Given the description of an element on the screen output the (x, y) to click on. 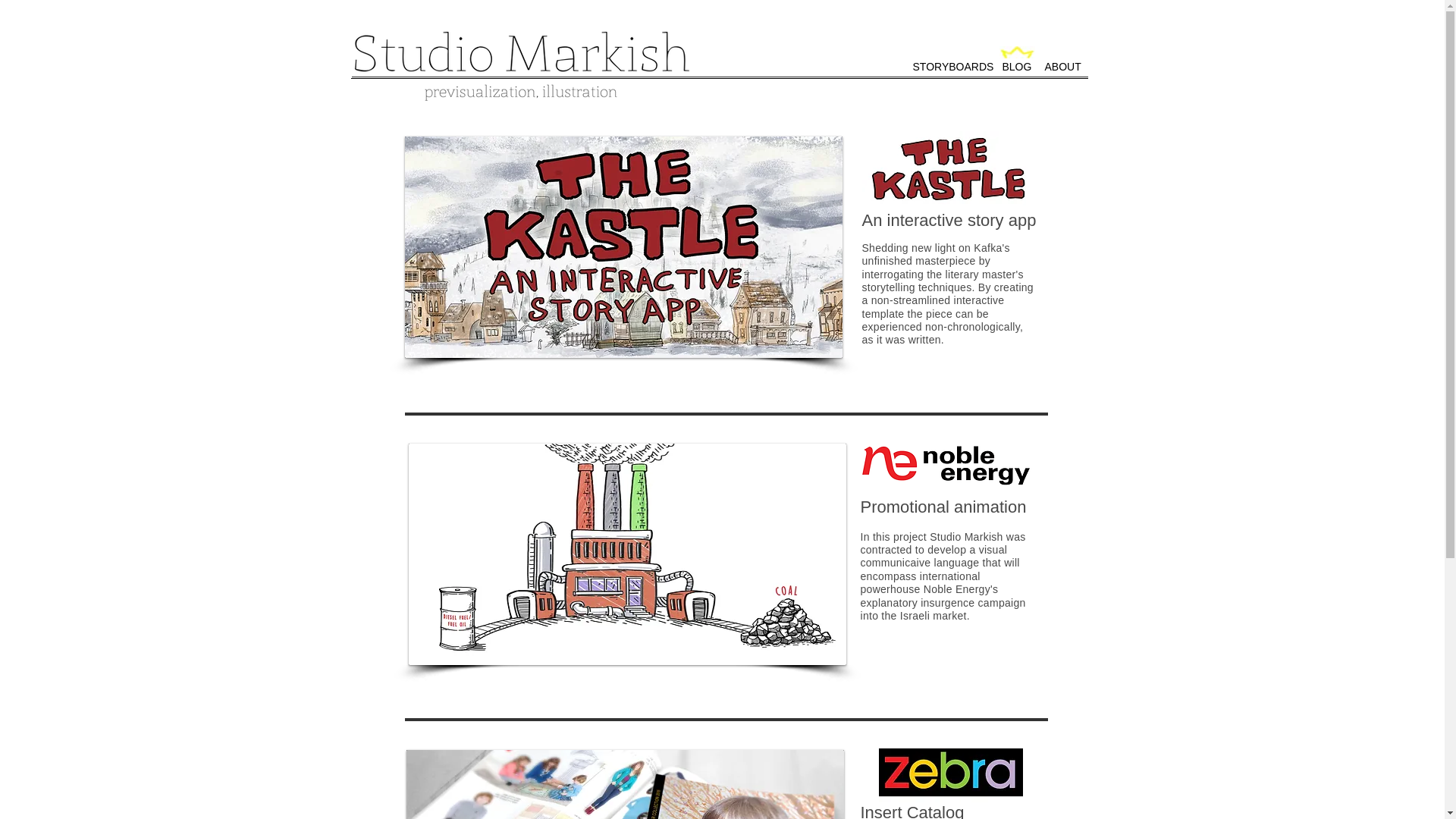
studioM2.png (521, 52)
STORYBOARDS (949, 71)
BLOG (1015, 71)
ABOUT (1061, 71)
